Given the description of an element on the screen output the (x, y) to click on. 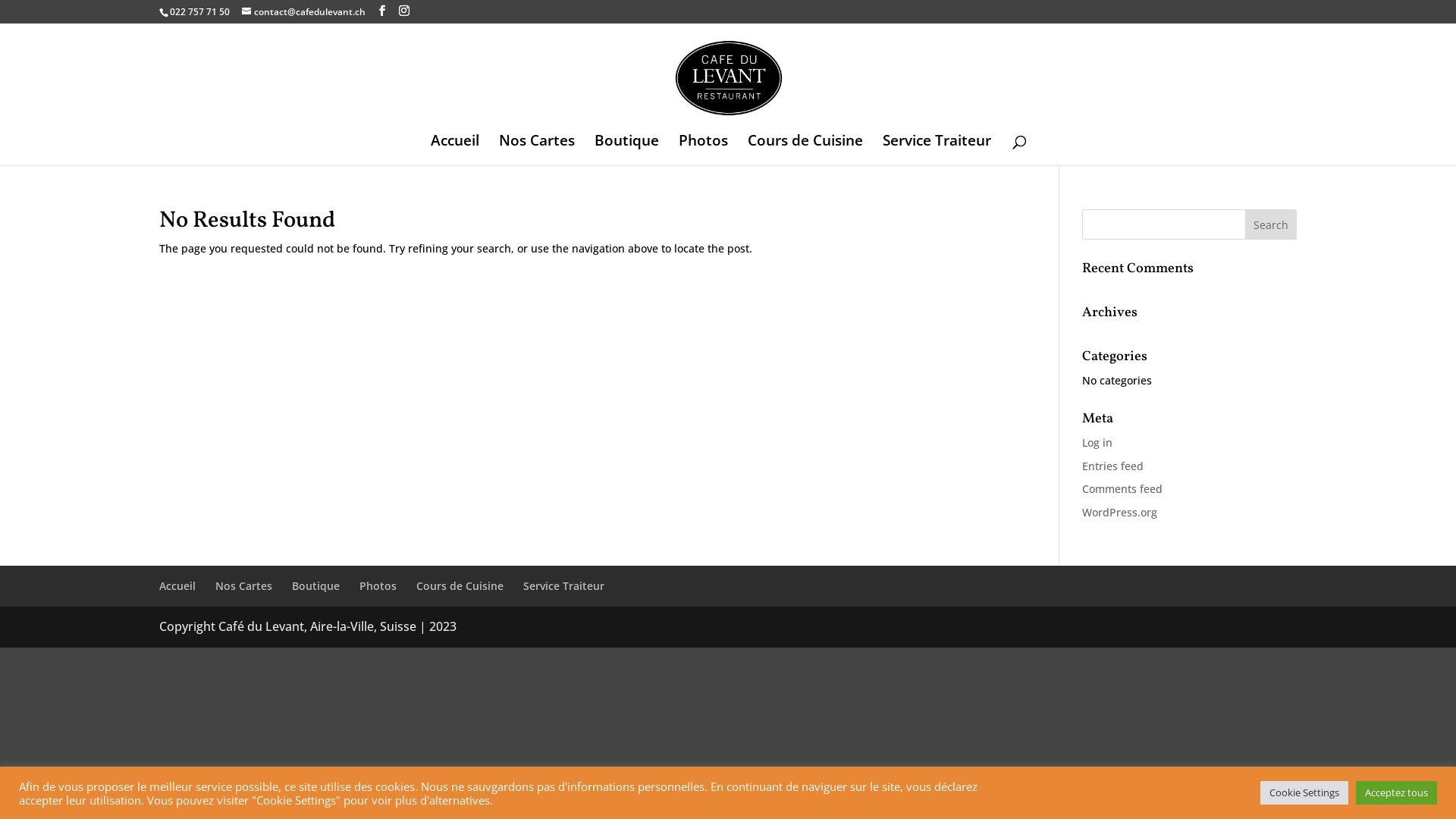
Cookie Settings Element type: text (1304, 792)
Cours de Cuisine Element type: text (804, 149)
Photos Element type: text (377, 585)
Acceptez tous Element type: text (1396, 792)
WordPress.org Element type: text (1119, 512)
Accueil Element type: text (454, 149)
Log in Element type: text (1097, 442)
Entries feed Element type: text (1112, 465)
Photos Element type: text (702, 149)
Search Element type: text (1270, 224)
Service Traiteur Element type: text (936, 149)
Nos Cartes Element type: text (243, 585)
Cours de Cuisine Element type: text (459, 585)
Boutique Element type: text (626, 149)
Service Traiteur Element type: text (563, 585)
Accueil Element type: text (177, 585)
Comments feed Element type: text (1122, 488)
Boutique Element type: text (315, 585)
Nos Cartes Element type: text (536, 149)
contact@cafedulevant.ch Element type: text (303, 11)
